Given the description of an element on the screen output the (x, y) to click on. 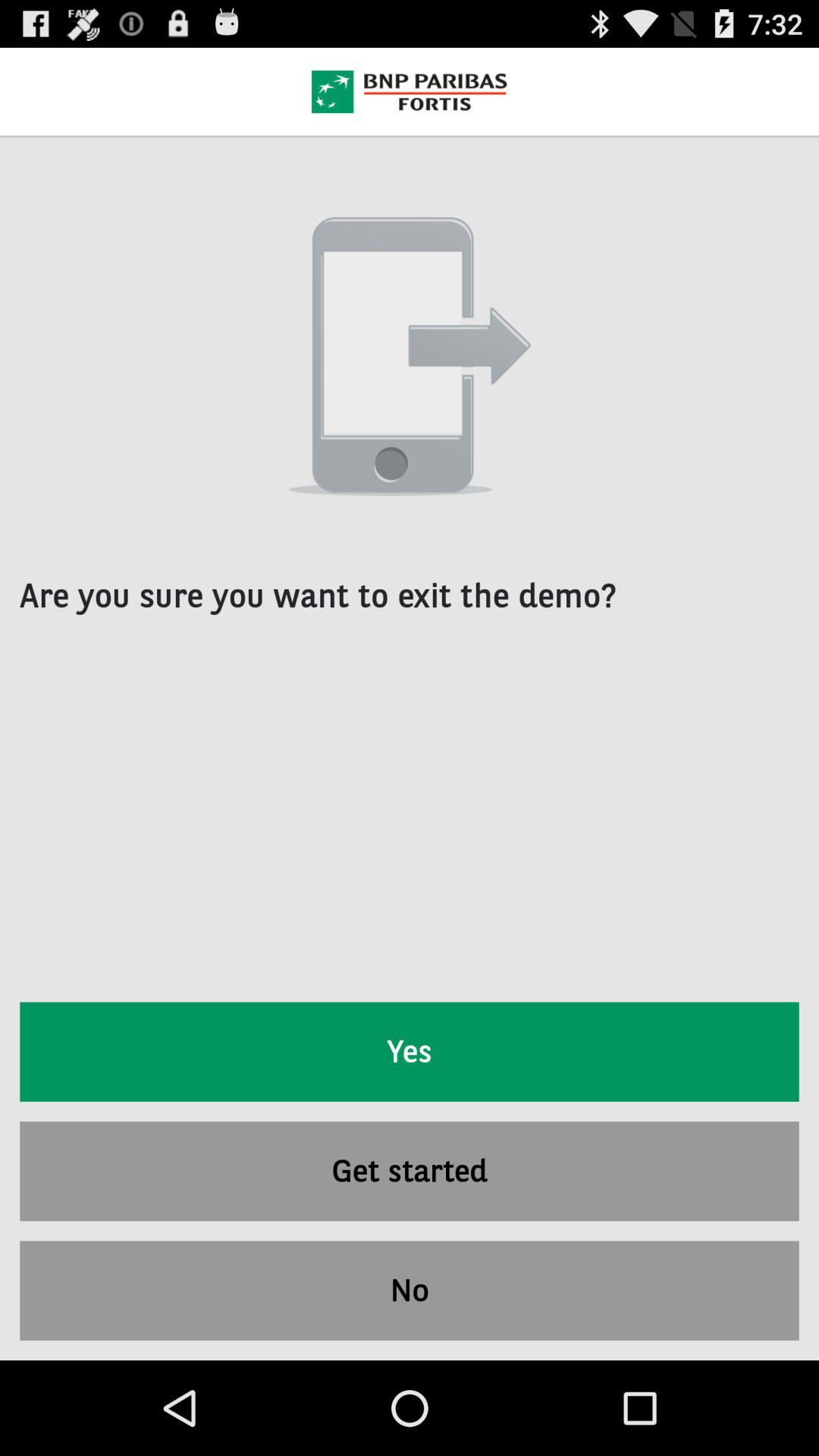
flip until get started icon (409, 1171)
